Given the description of an element on the screen output the (x, y) to click on. 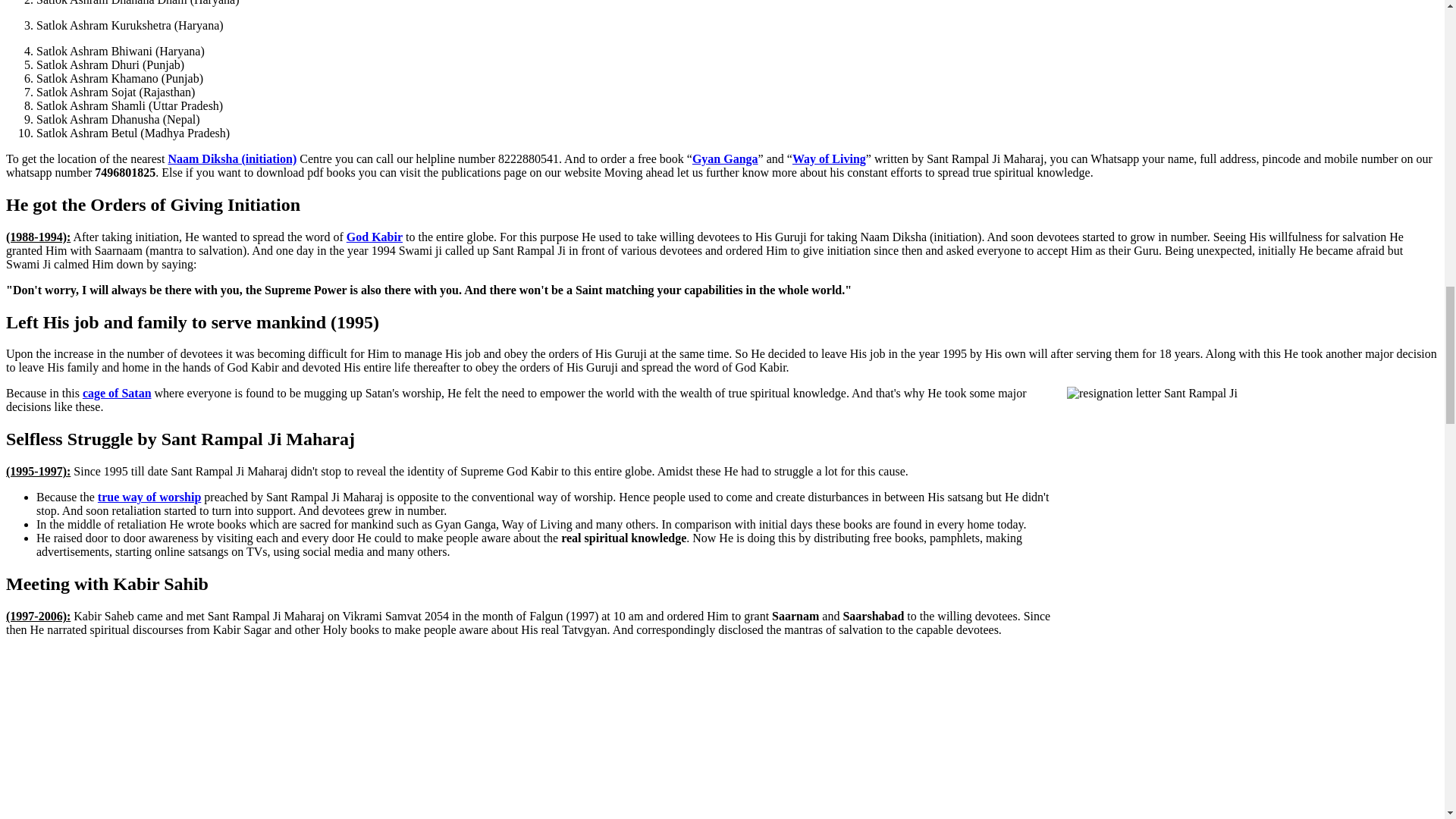
YouTube video player (217, 734)
